Given the description of an element on the screen output the (x, y) to click on. 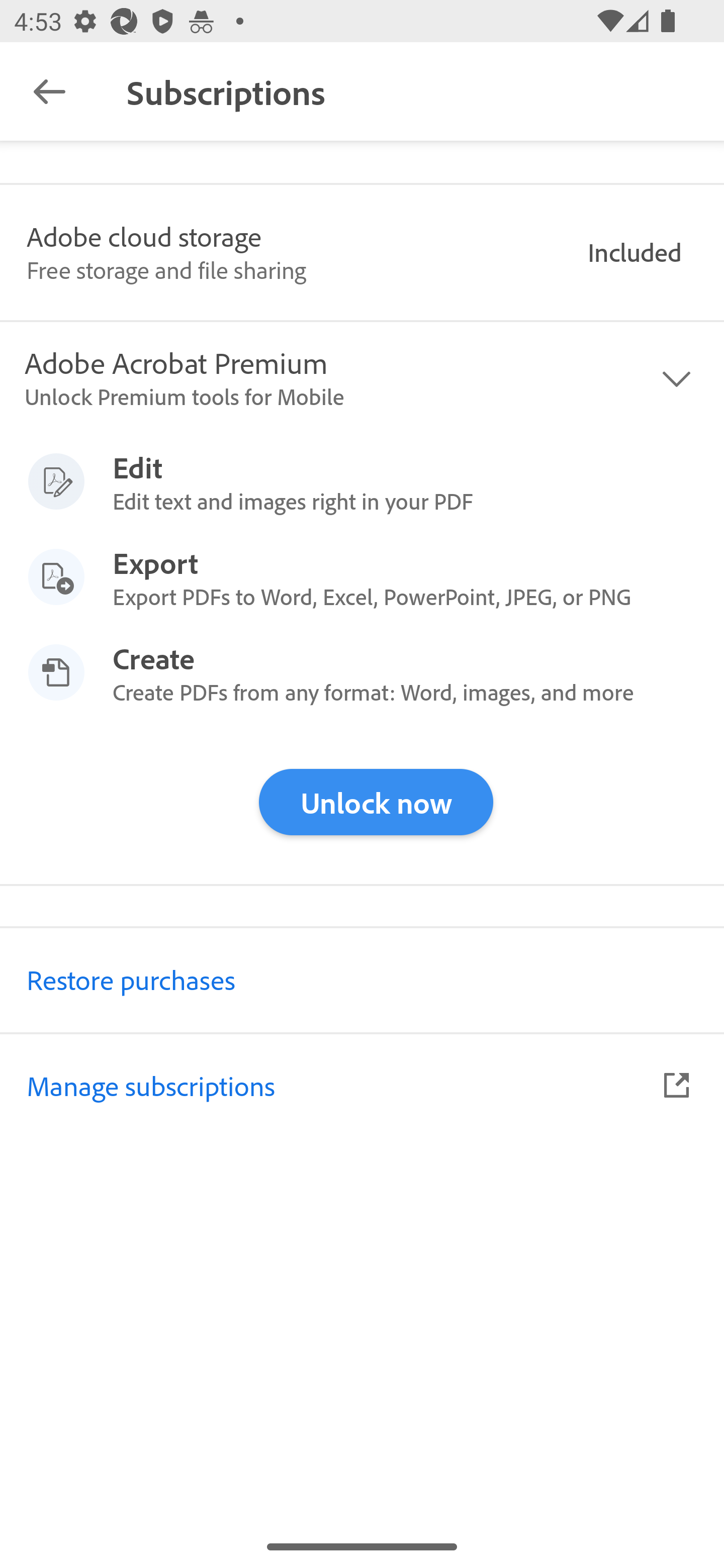
Navigate up (49, 91)
Unlock now (376, 801)
Restore purchases (362, 978)
Manage subscriptions (362, 1084)
